Given the description of an element on the screen output the (x, y) to click on. 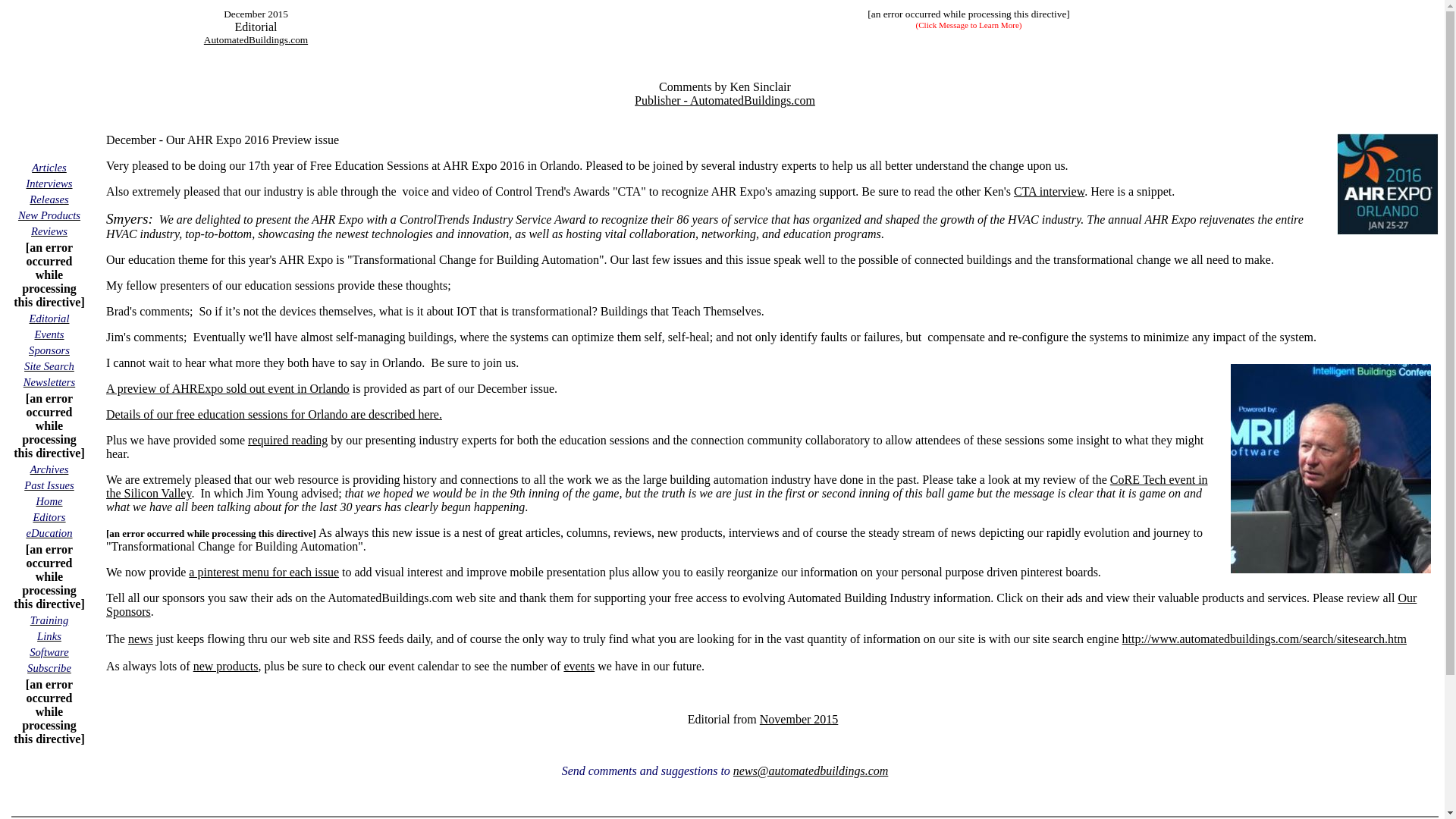
Sponsors (49, 349)
Past Issues (49, 484)
Software (48, 651)
Releases (48, 198)
Publisher - AutomatedBuildings.com (724, 100)
Reviews (48, 230)
Articles (49, 166)
Newsletters (49, 381)
events (578, 666)
